Given the description of an element on the screen output the (x, y) to click on. 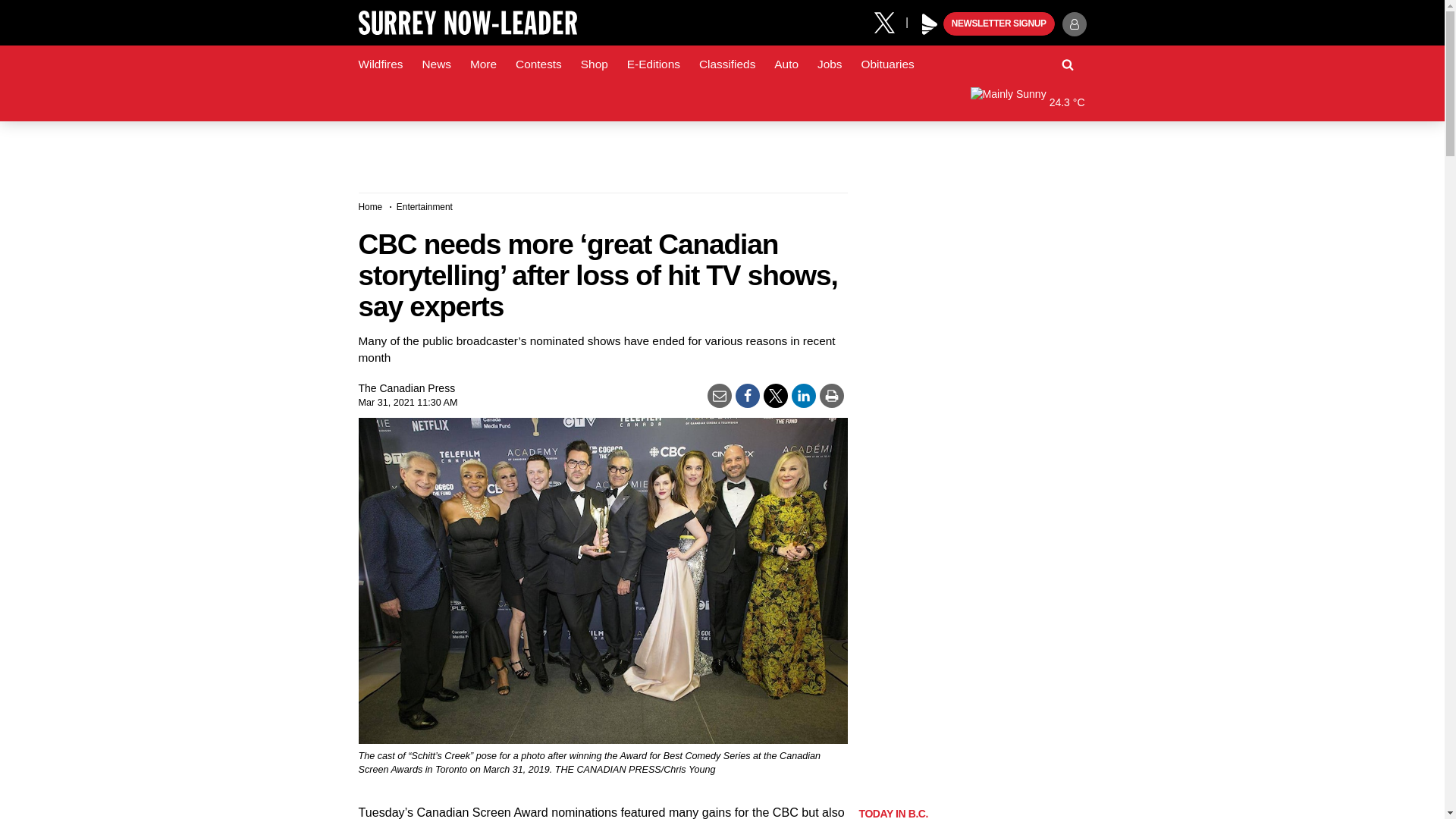
News (435, 64)
Wildfires (380, 64)
Play (929, 24)
NEWSLETTER SIGNUP (998, 24)
Black Press Media (929, 24)
X (889, 21)
